Given the description of an element on the screen output the (x, y) to click on. 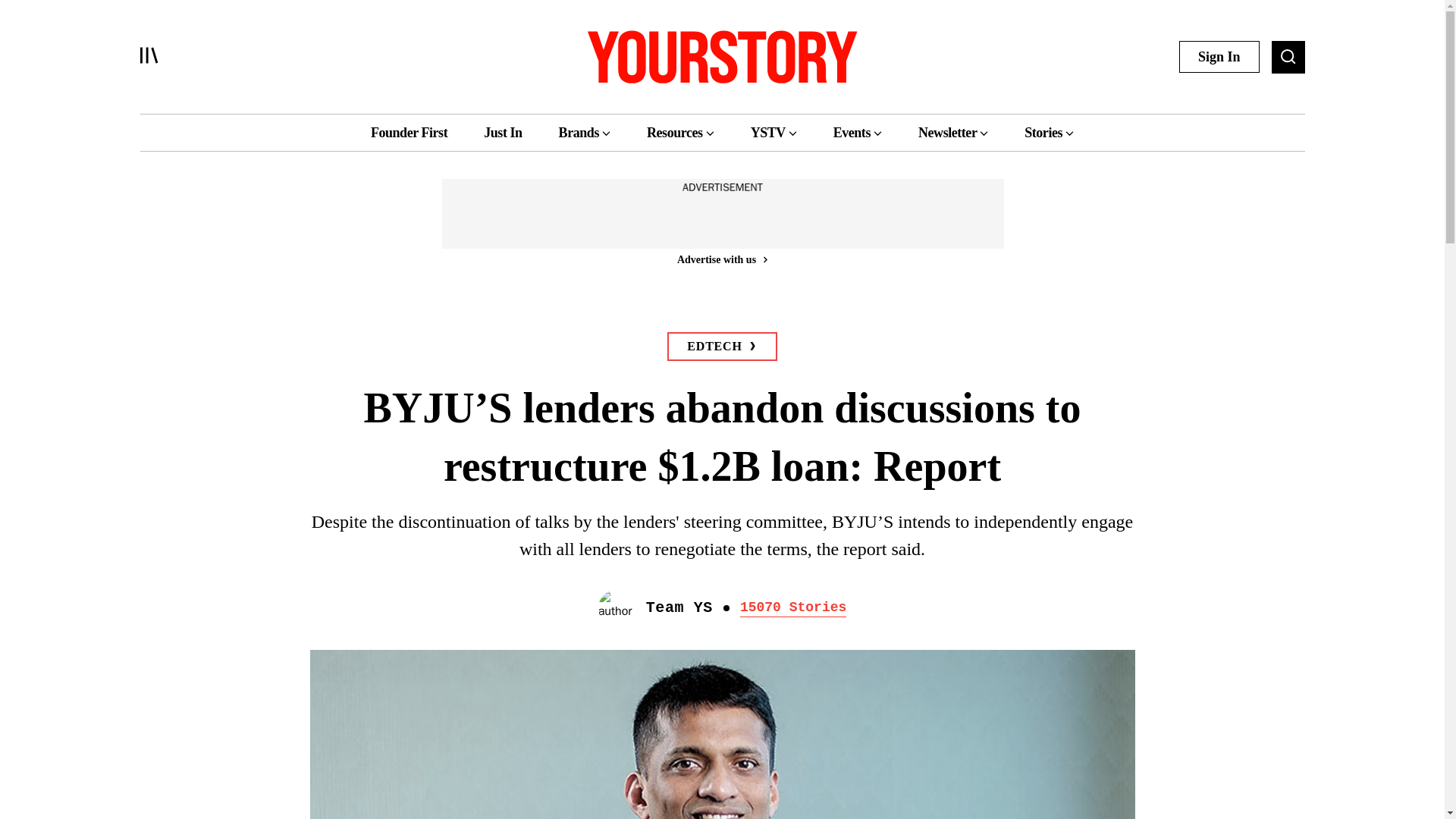
15070 Stories (792, 607)
Founder First (408, 132)
Team YS (679, 607)
EDTECH (721, 346)
Advertise with us (721, 259)
Just In (502, 132)
